Given the description of an element on the screen output the (x, y) to click on. 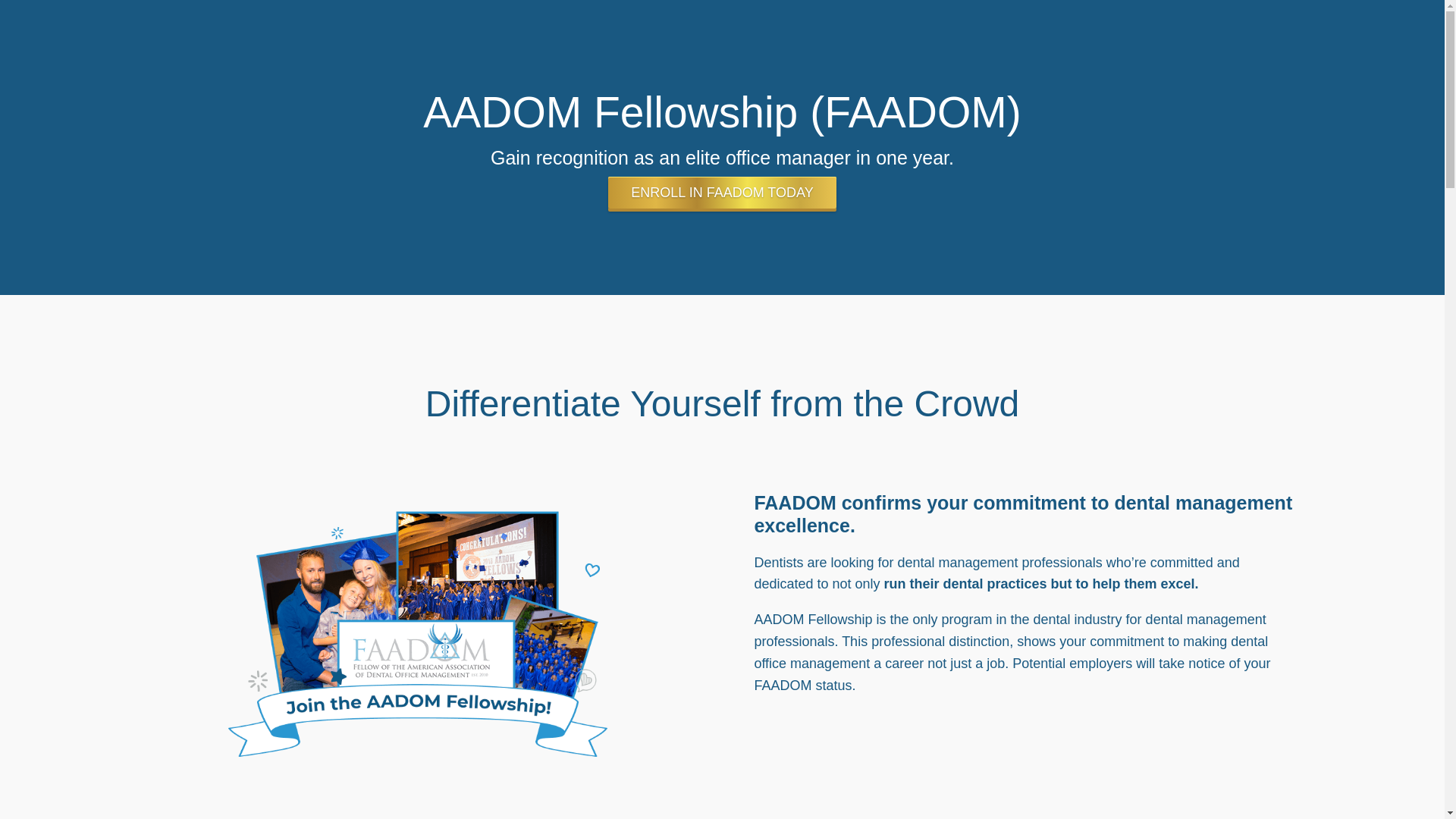
Be part of the AADOM Fellowship Program! (379, 609)
ENROLL IN FAADOM TODAY (721, 210)
